Given the description of an element on the screen output the (x, y) to click on. 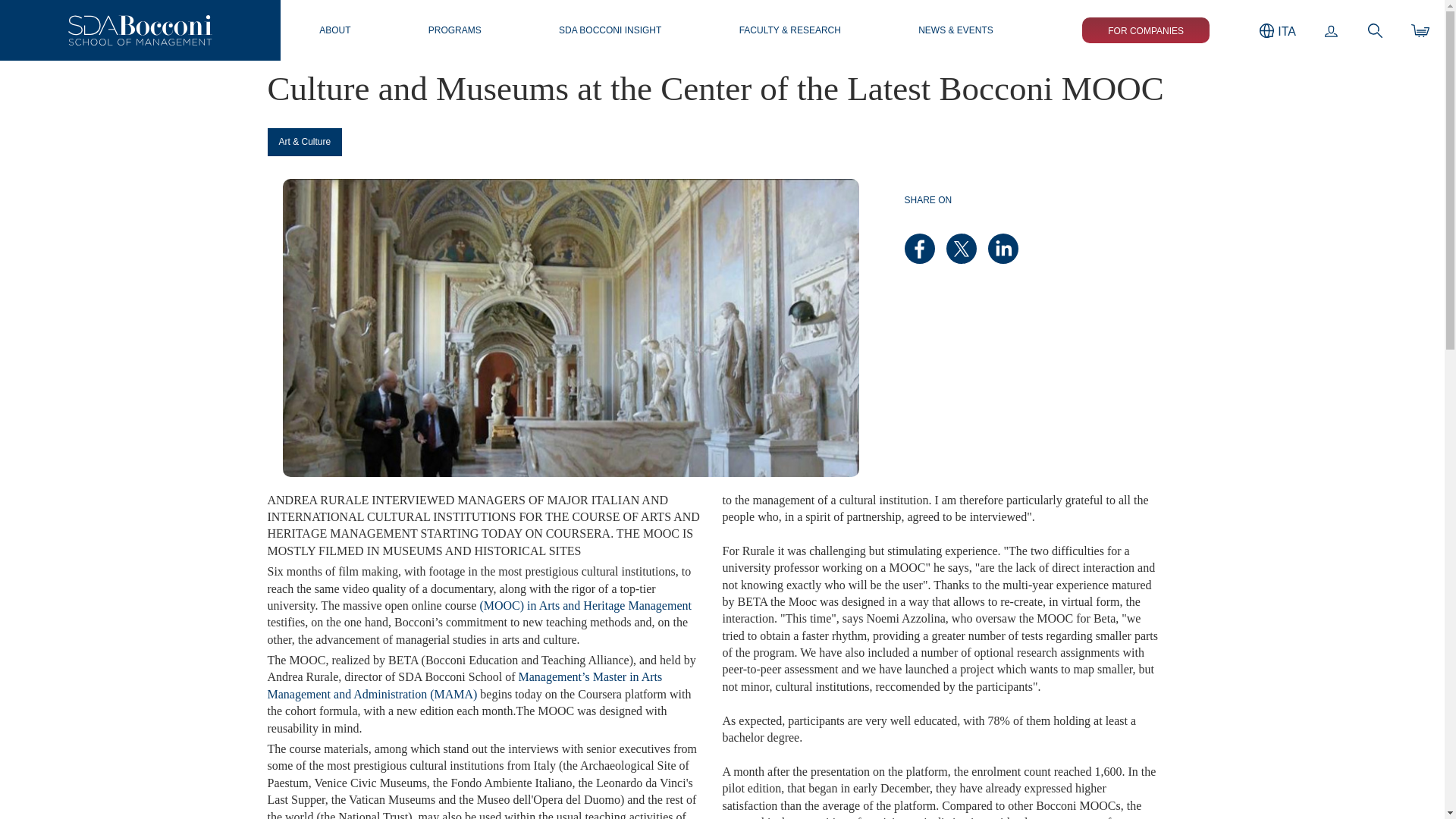
ABOUT (334, 30)
SDA BOCCONI INSIGHT (609, 30)
PROGRAMS (454, 30)
